Given the description of an element on the screen output the (x, y) to click on. 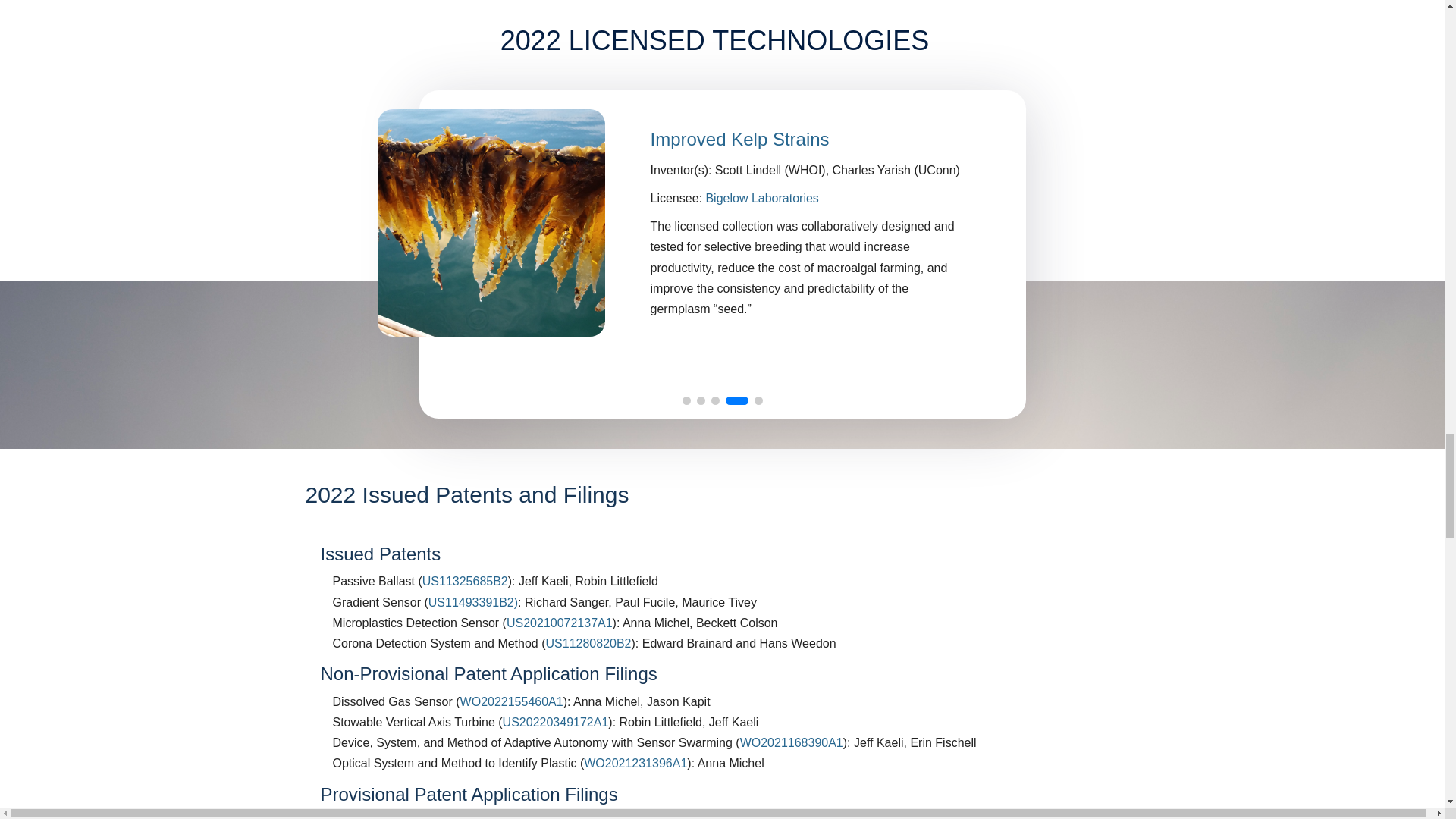
Bigelow Laboratories (761, 197)
Improved Kelp Strains (739, 138)
